Given the description of an element on the screen output the (x, y) to click on. 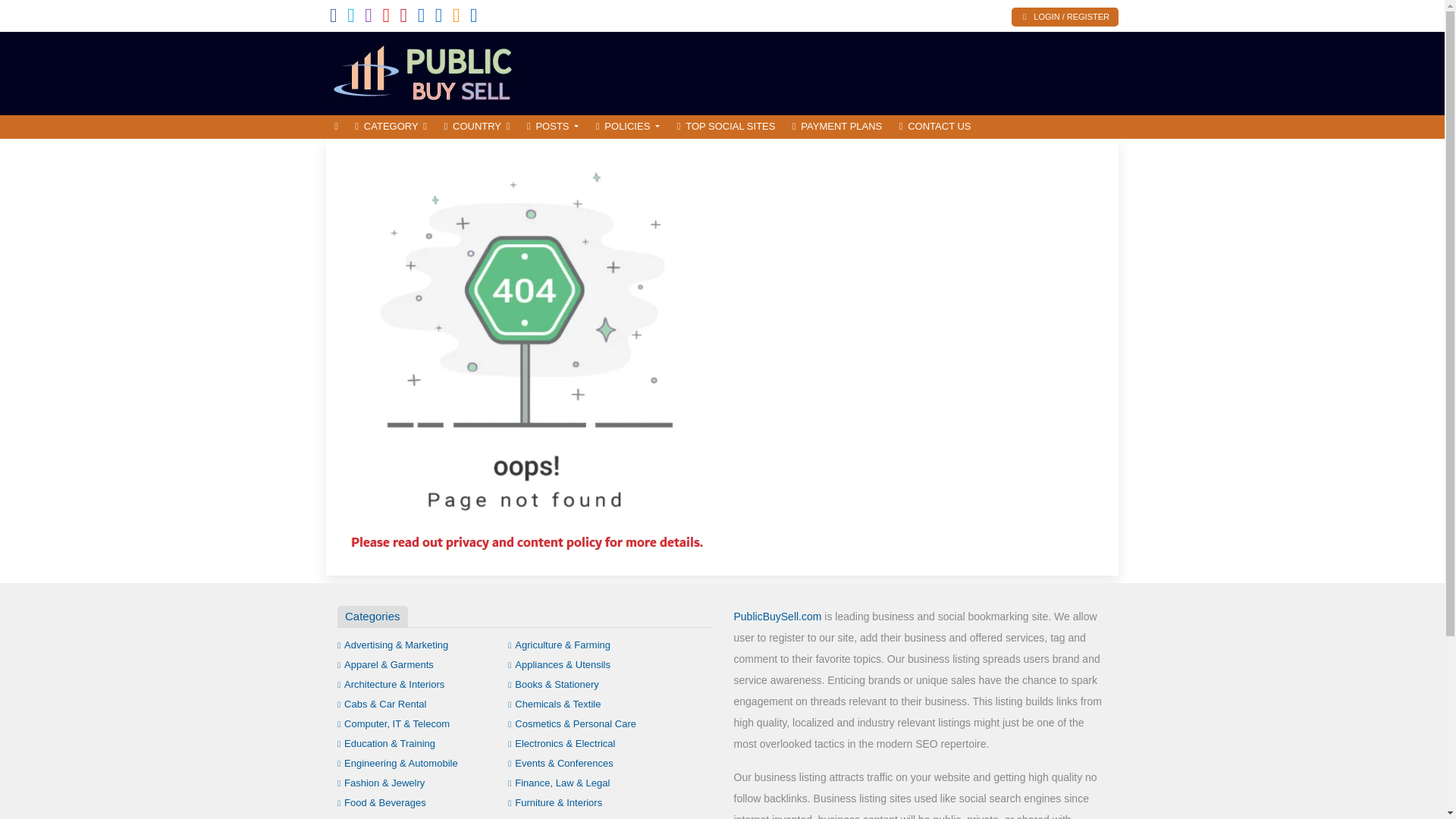
Increase Organic Traffic by Professional Advertisement (428, 71)
CATEGORY (390, 126)
